Given the description of an element on the screen output the (x, y) to click on. 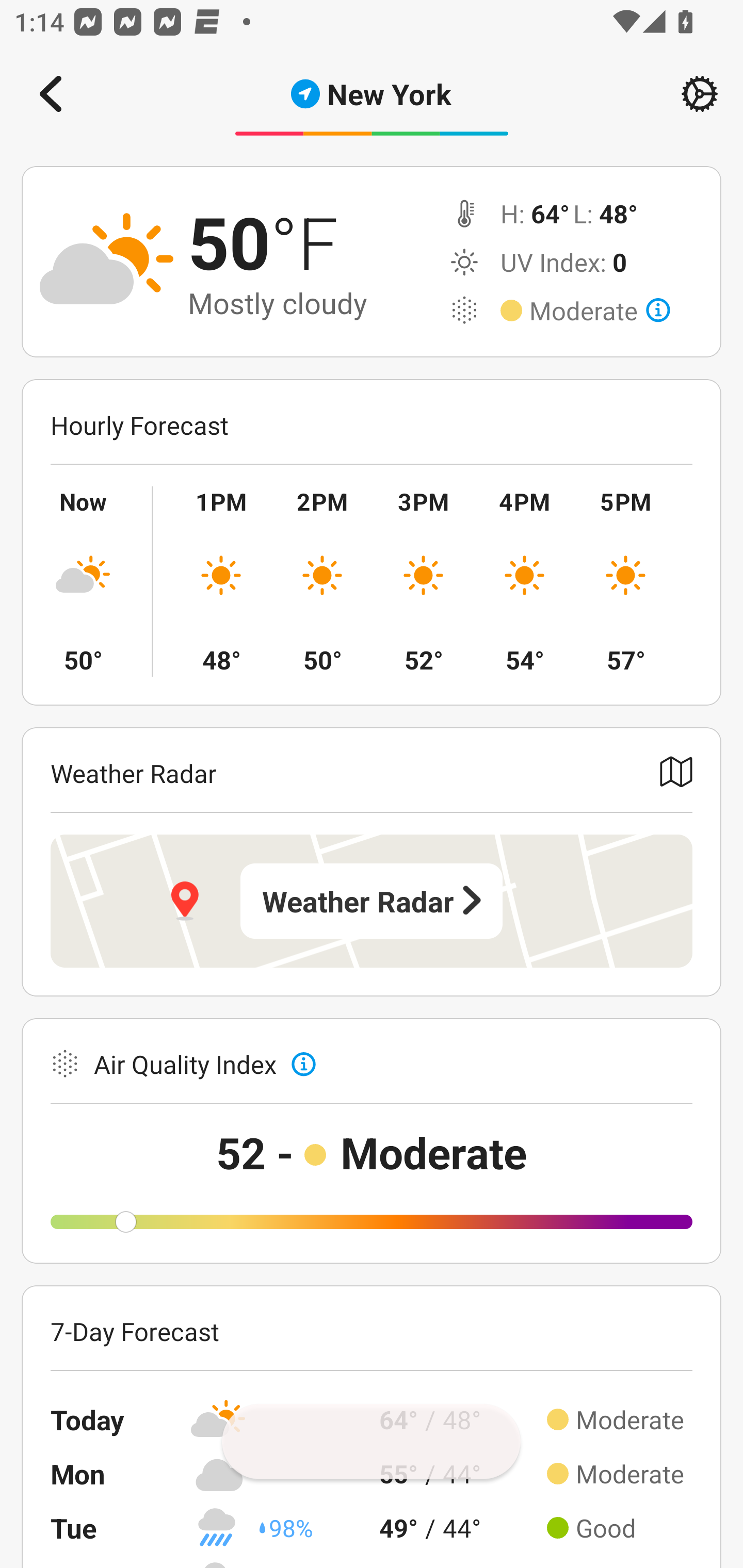
Navigate up (50, 93)
Setting (699, 93)
Moderate (599, 310)
Weather Radar (371, 900)
